Given the description of an element on the screen output the (x, y) to click on. 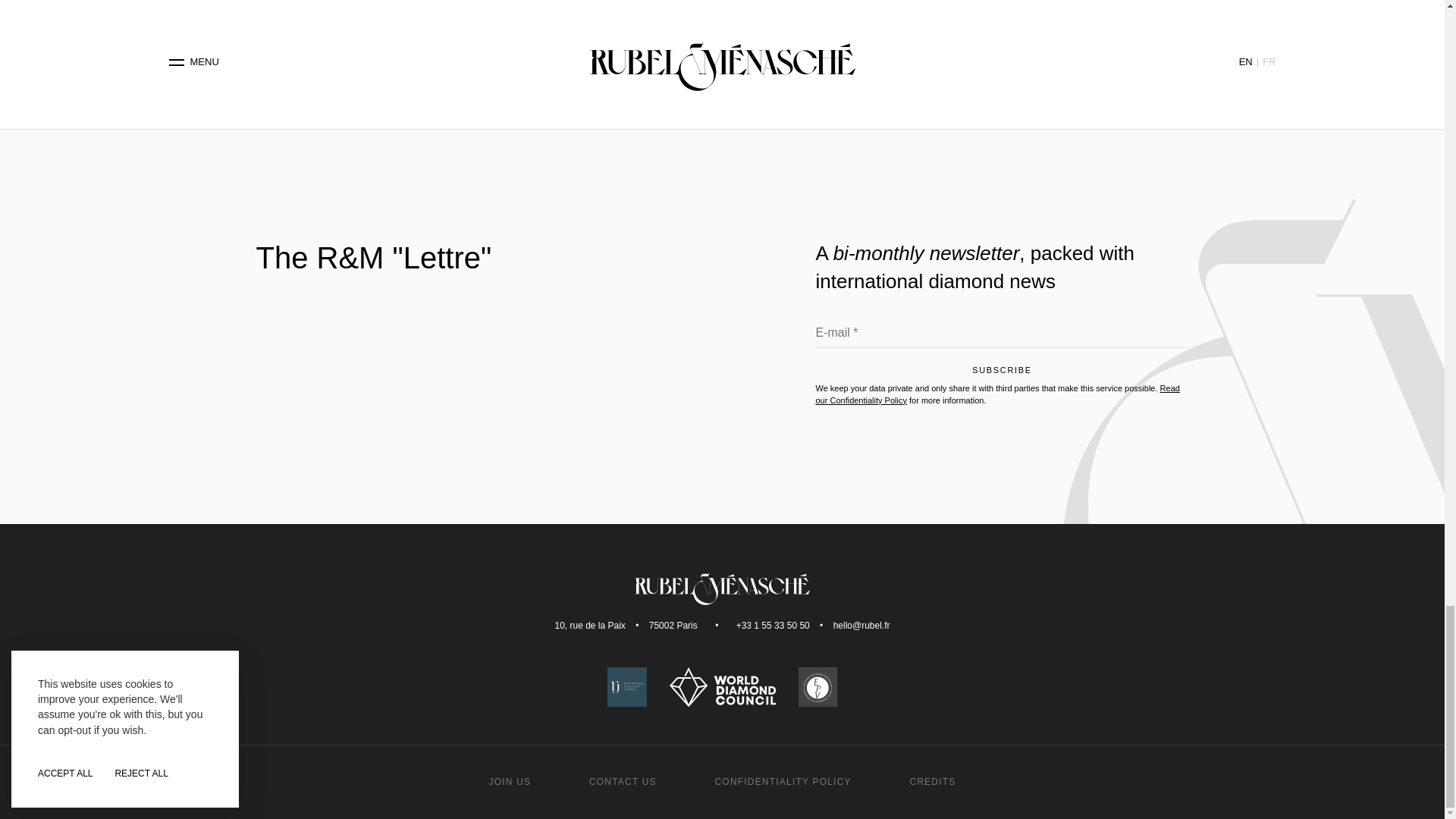
JOIN US (509, 781)
CONTACT US (622, 781)
CONFIDENTIALITY POLICY (782, 781)
Subscribe (1002, 374)
E-mail (1002, 336)
Read our Confidentiality Policy (997, 394)
CREDITS (931, 781)
Subscribe (1002, 374)
